Given the description of an element on the screen output the (x, y) to click on. 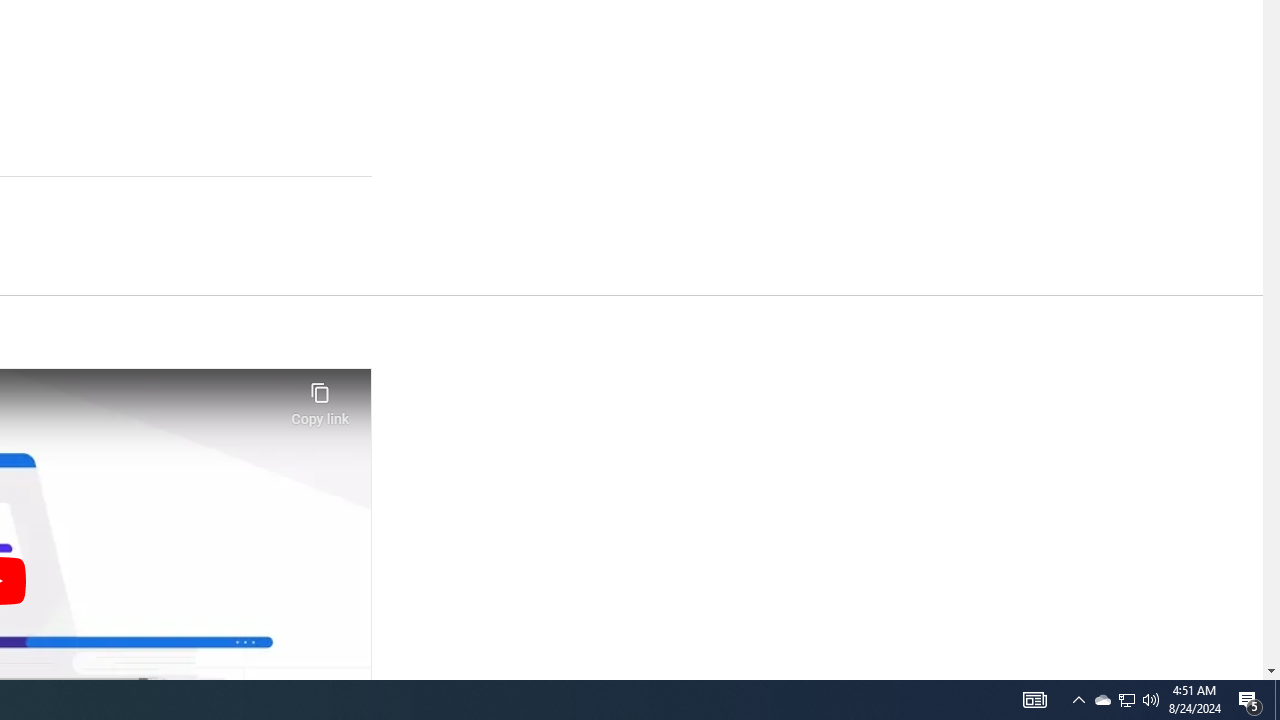
Copy link (319, 398)
